Given the description of an element on the screen output the (x, y) to click on. 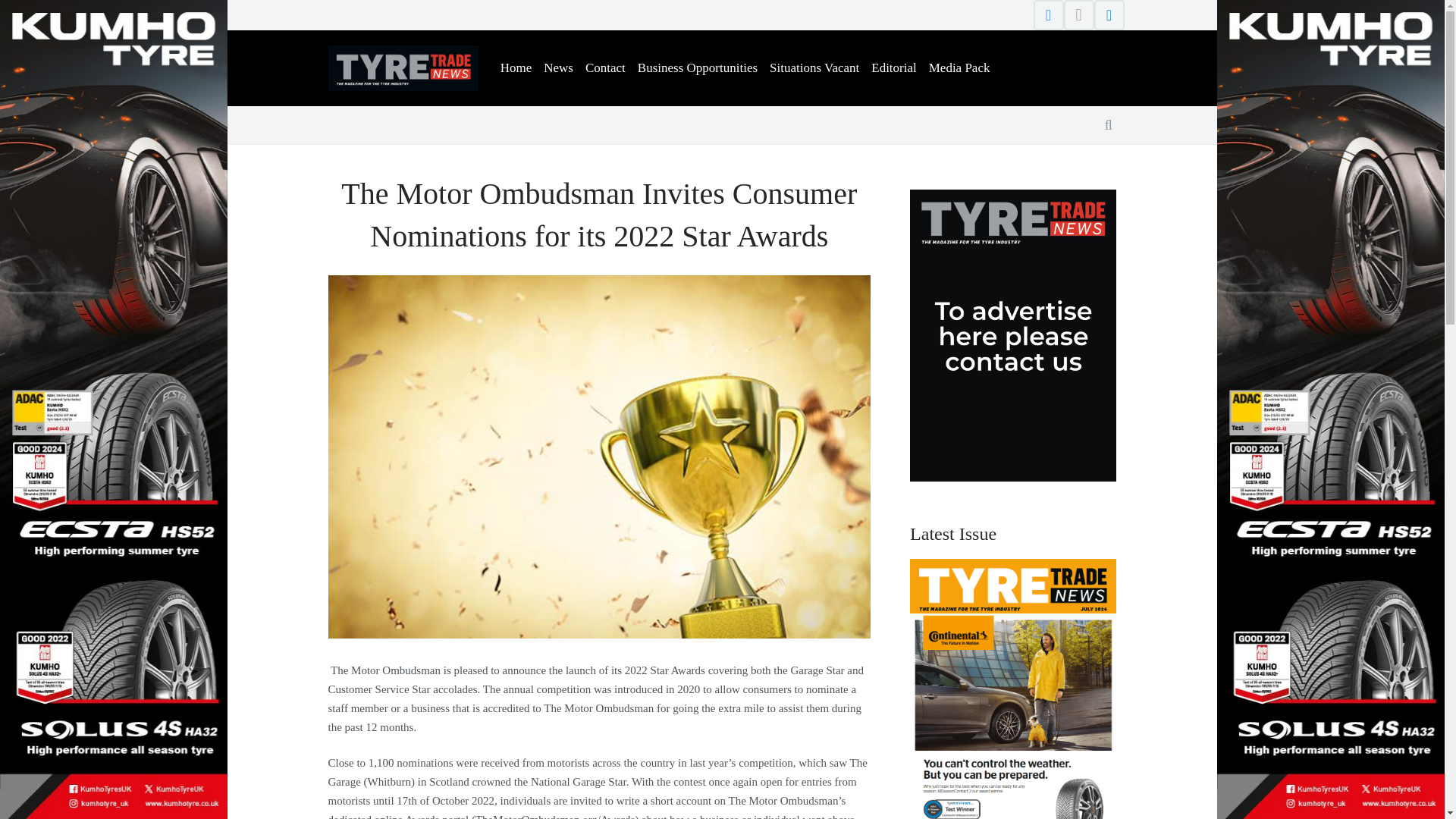
Situations Vacant (813, 68)
Instagram (1077, 15)
Facebook (1047, 15)
LinkedIn (1108, 15)
Business Opportunities (696, 68)
Media Pack (959, 68)
